Given the description of an element on the screen output the (x, y) to click on. 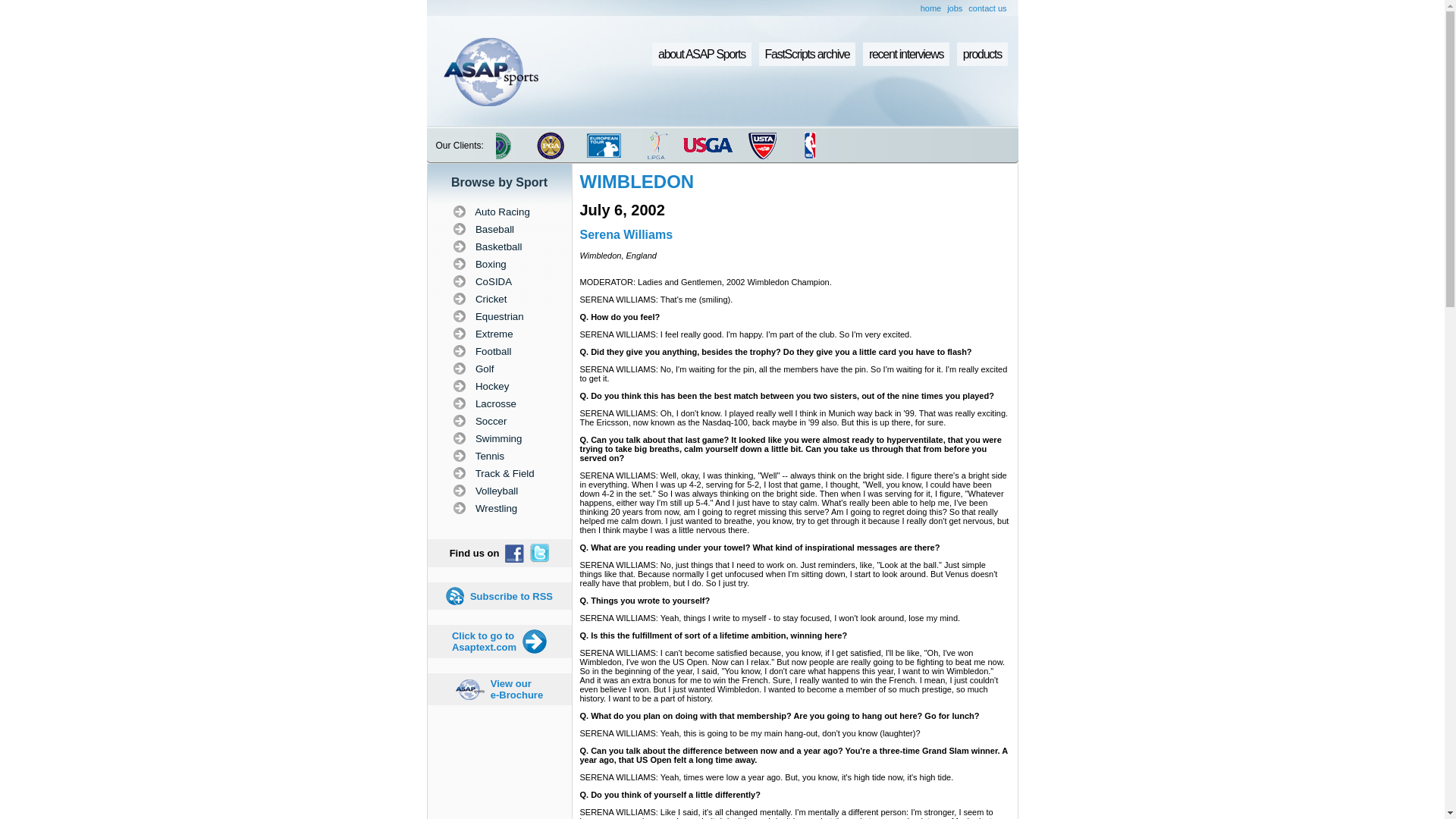
 Wrestling (498, 507)
home (931, 8)
 Hockey (498, 385)
 Swimming (498, 437)
 Basketball (498, 246)
about ASAP Sports (701, 54)
jobs (954, 8)
 Football (498, 350)
 Volleyball (498, 490)
 Boxing (498, 263)
contact us (987, 8)
Subscribe to RSS (511, 595)
 Auto Racing        (498, 211)
 Cricket (516, 689)
